Given the description of an element on the screen output the (x, y) to click on. 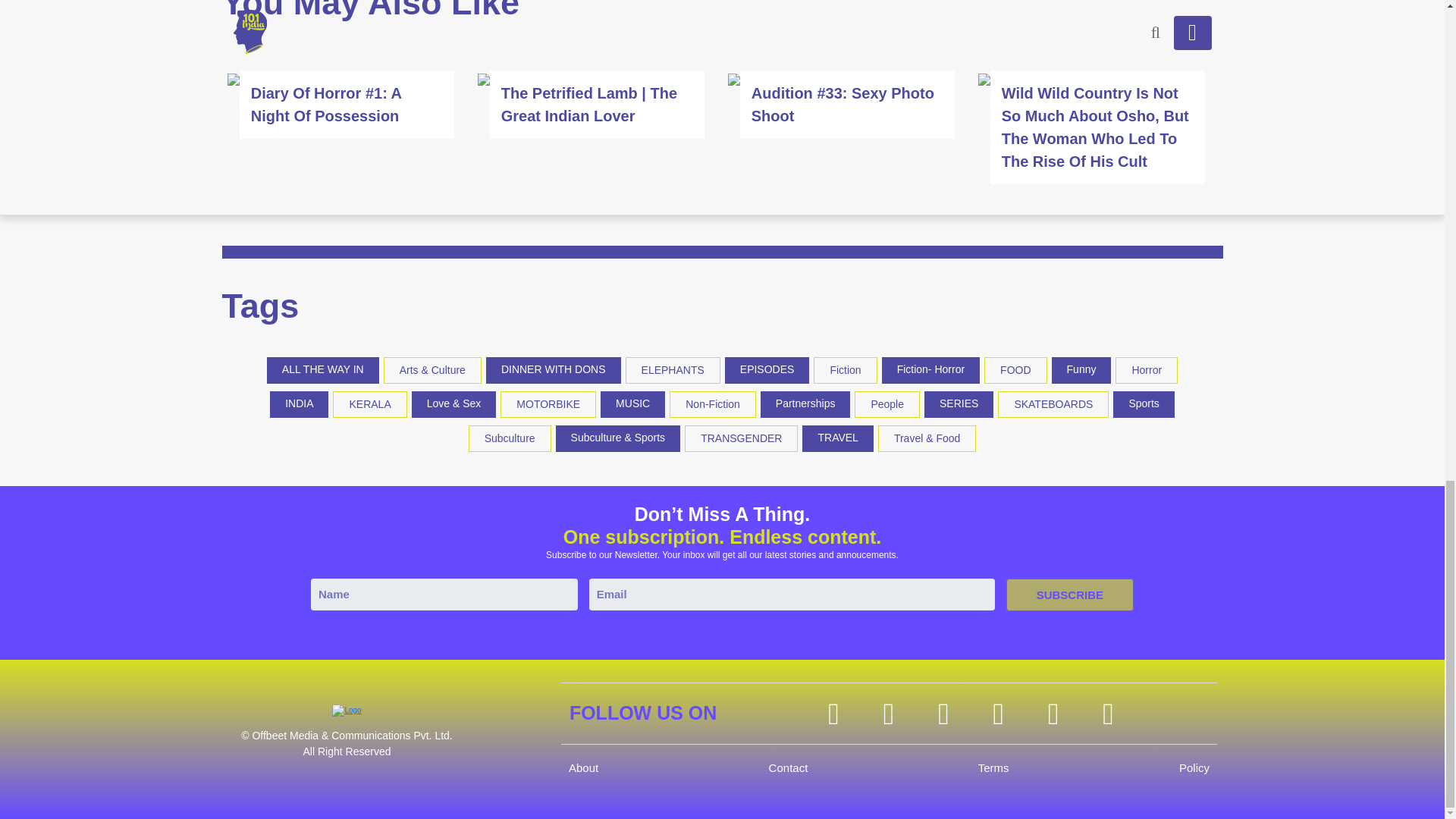
ALL THE WAY IN (323, 369)
SUBSCRIBE (1070, 594)
